Given the description of an element on the screen output the (x, y) to click on. 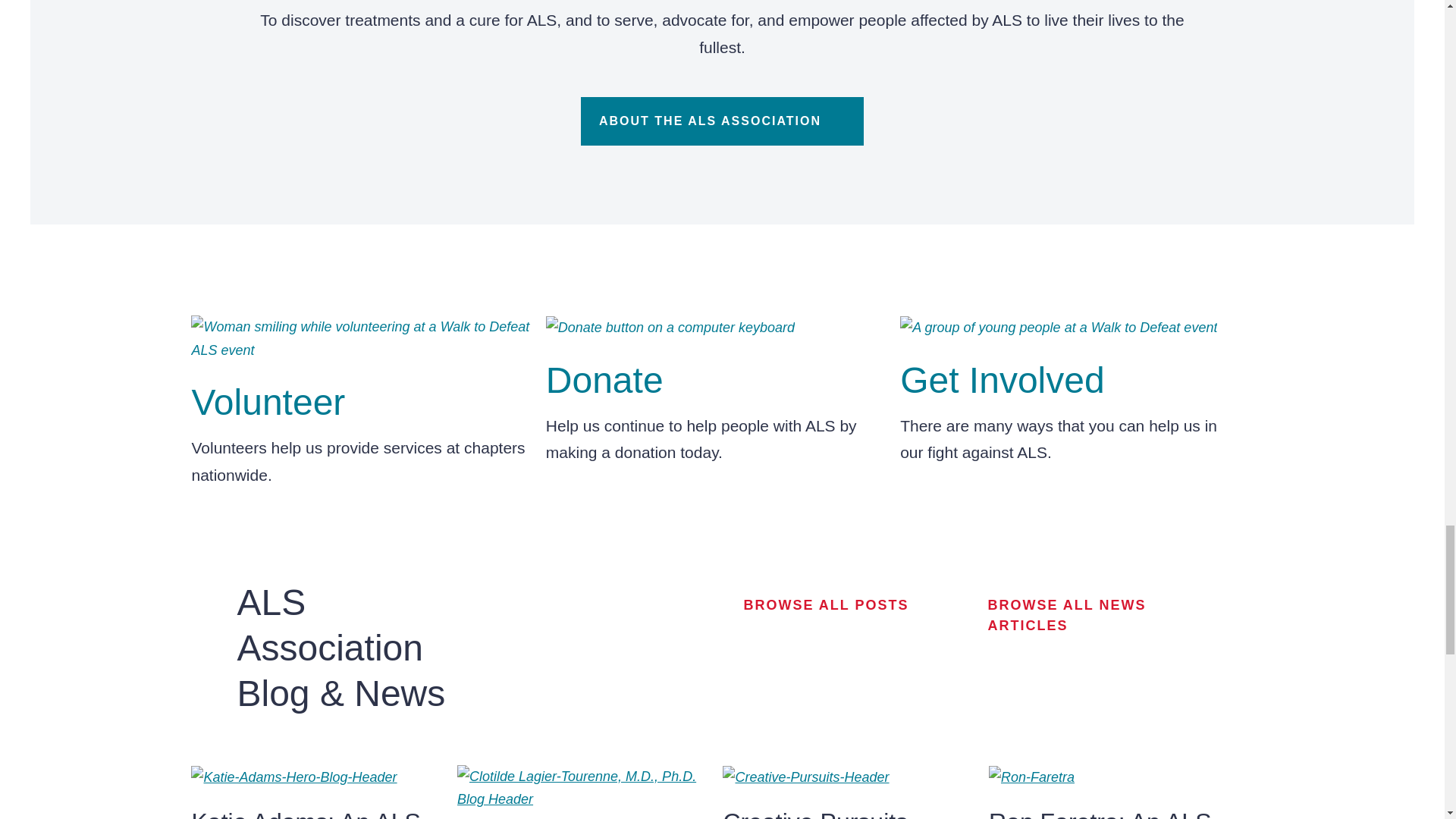
ABOUT THE ALS ASSOCIATION (721, 121)
Volunteer (267, 402)
Donate (604, 380)
